Given the description of an element on the screen output the (x, y) to click on. 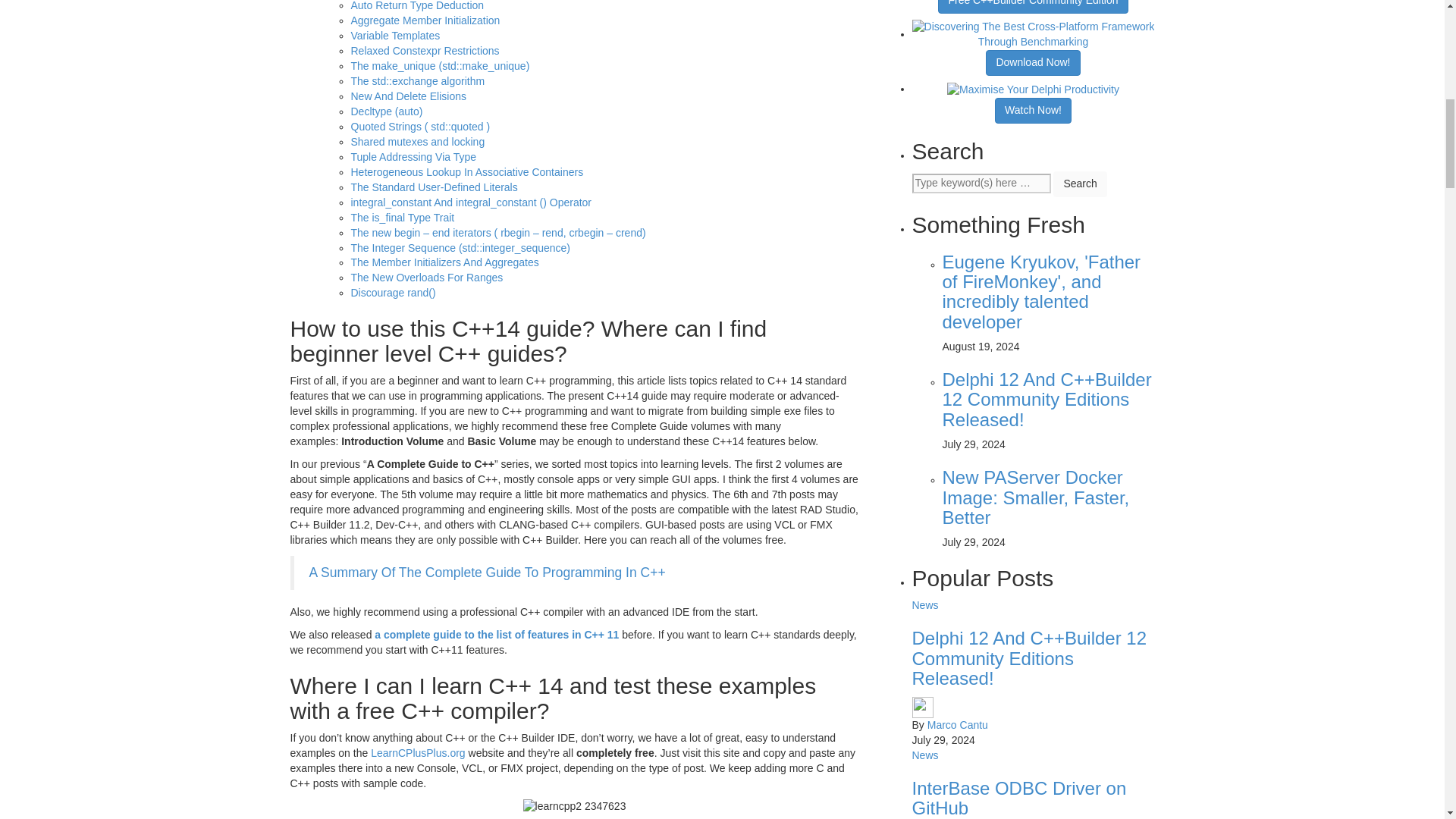
Aggregate Member Initialization (424, 20)
Auto Return Type Deduction (416, 5)
Search (1079, 184)
Variable Templates (394, 35)
